Given the description of an element on the screen output the (x, y) to click on. 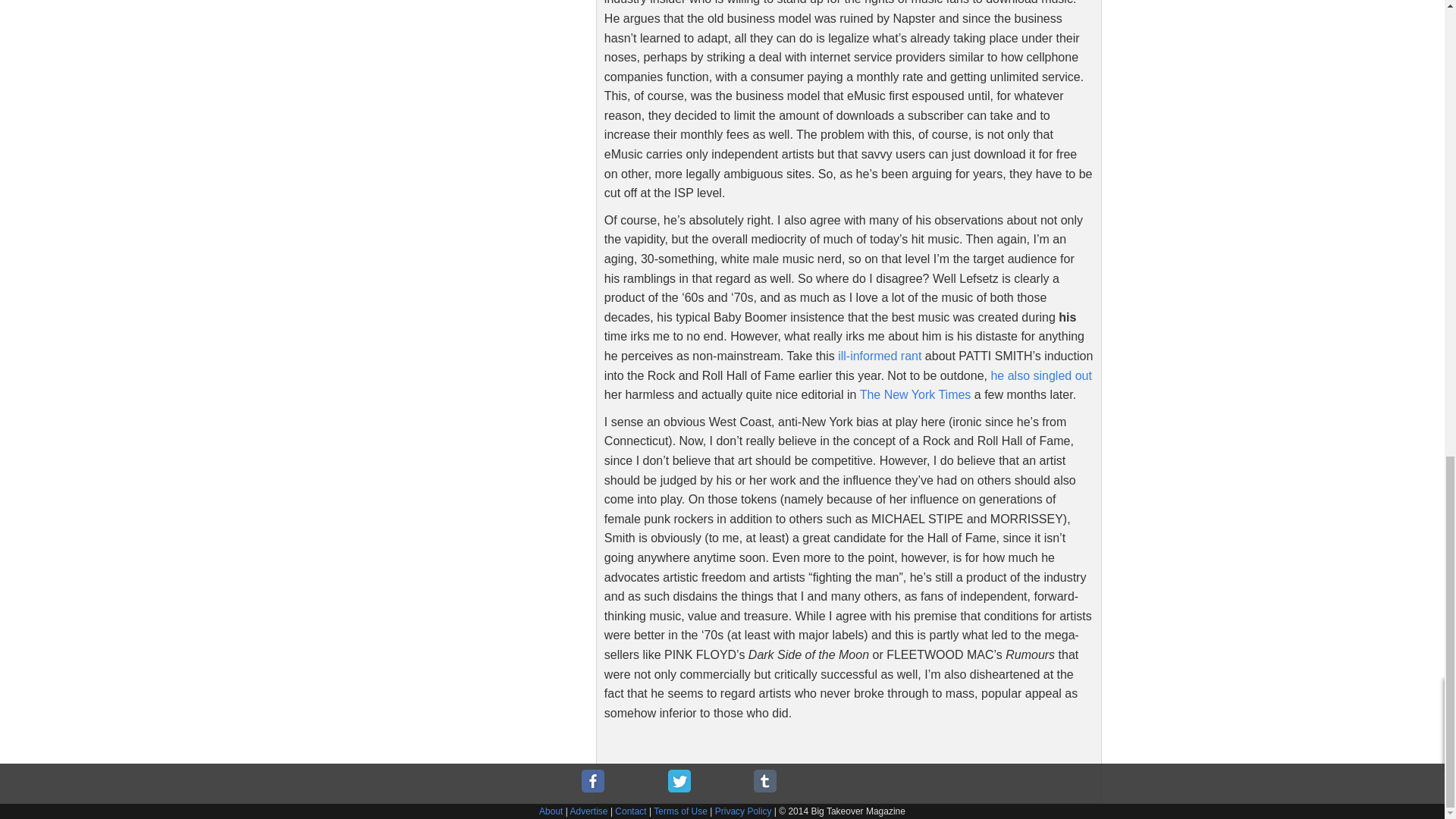
ill-informed rant (879, 355)
The New York Times (915, 394)
he also singled out (1040, 375)
